Given the description of an element on the screen output the (x, y) to click on. 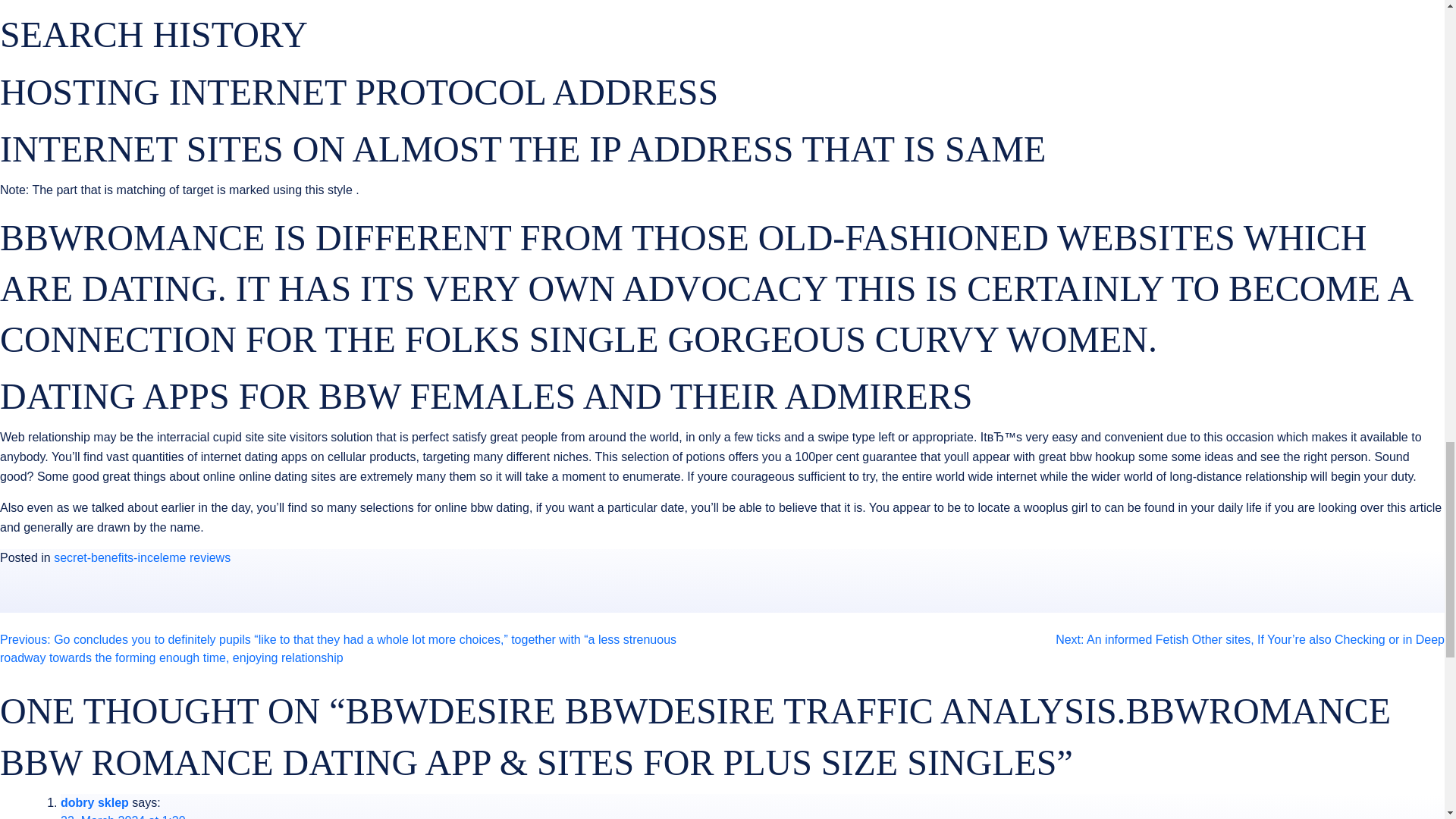
22. March 2024 at 1:20 (123, 816)
secret-benefits-inceleme reviews (141, 557)
dobry sklep (95, 802)
